Given the description of an element on the screen output the (x, y) to click on. 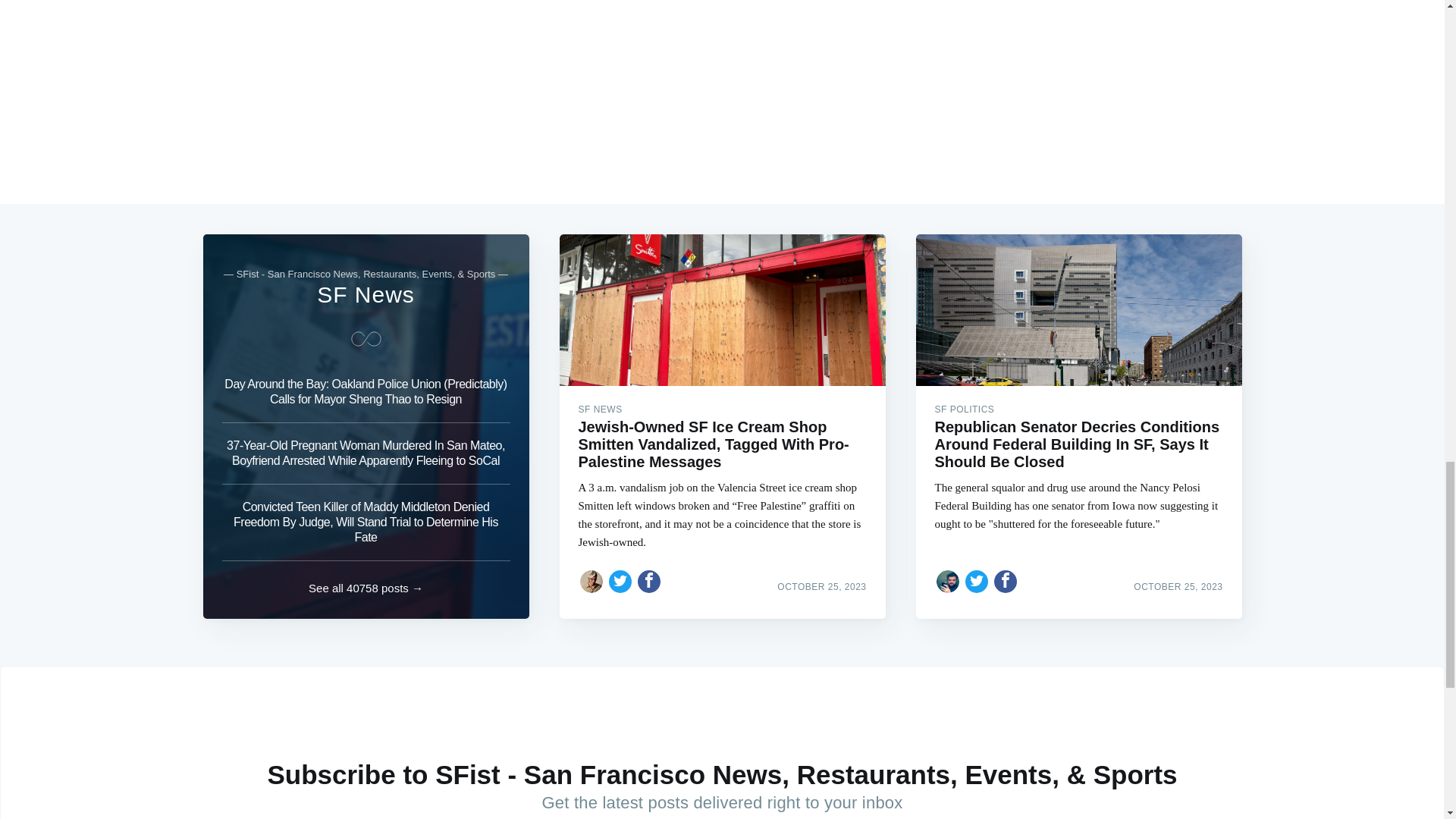
Share on Facebook (649, 581)
Share on Twitter (620, 581)
Share on Twitter (976, 581)
Share on Facebook (1004, 581)
SF News (365, 294)
